Given the description of an element on the screen output the (x, y) to click on. 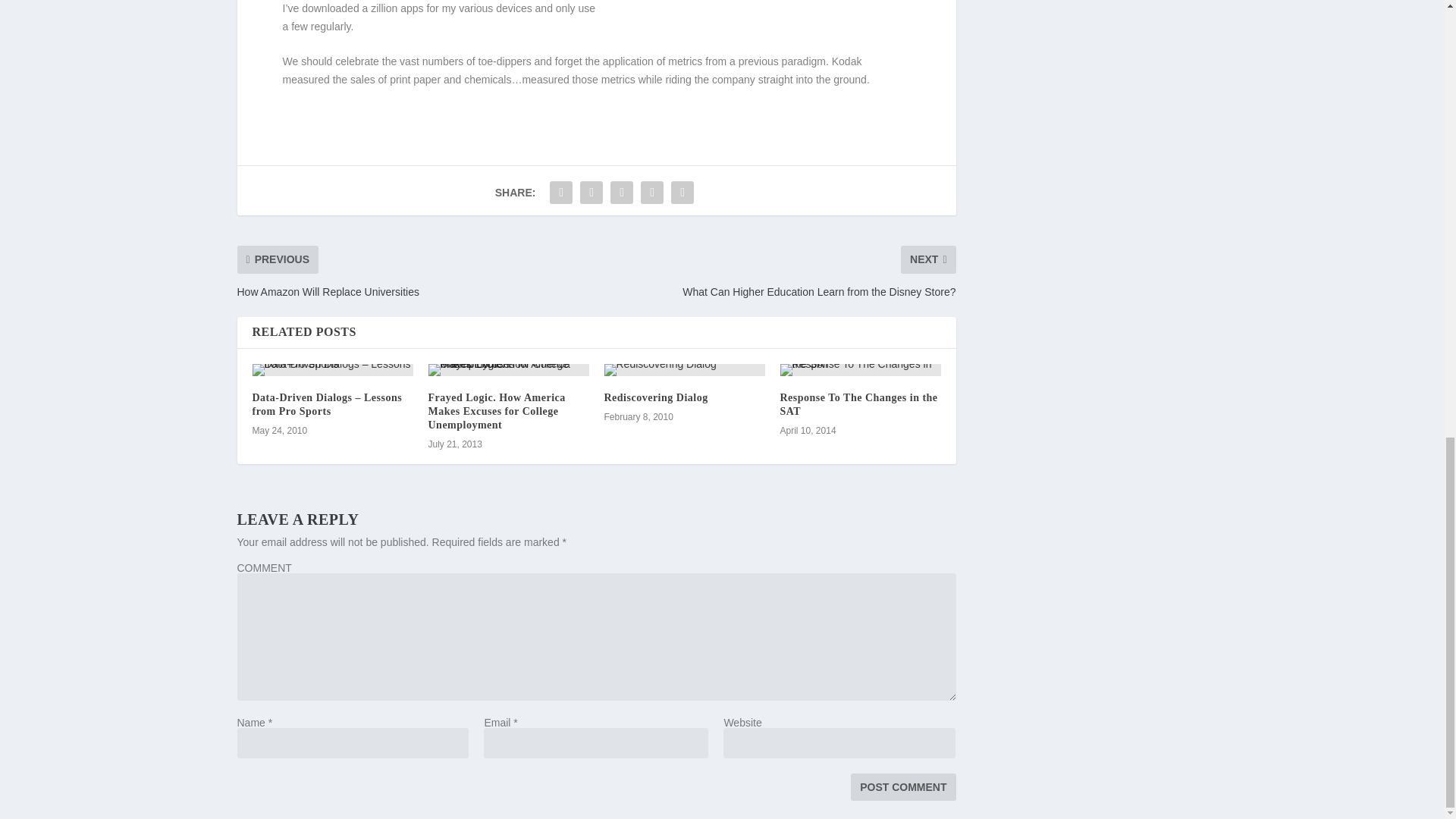
Post Comment (902, 786)
Response To The Changes in the SAT (859, 369)
Response To The Changes in the SAT (857, 404)
Rediscovering Dialog (655, 397)
Rediscovering Dialog (684, 369)
